Given the description of an element on the screen output the (x, y) to click on. 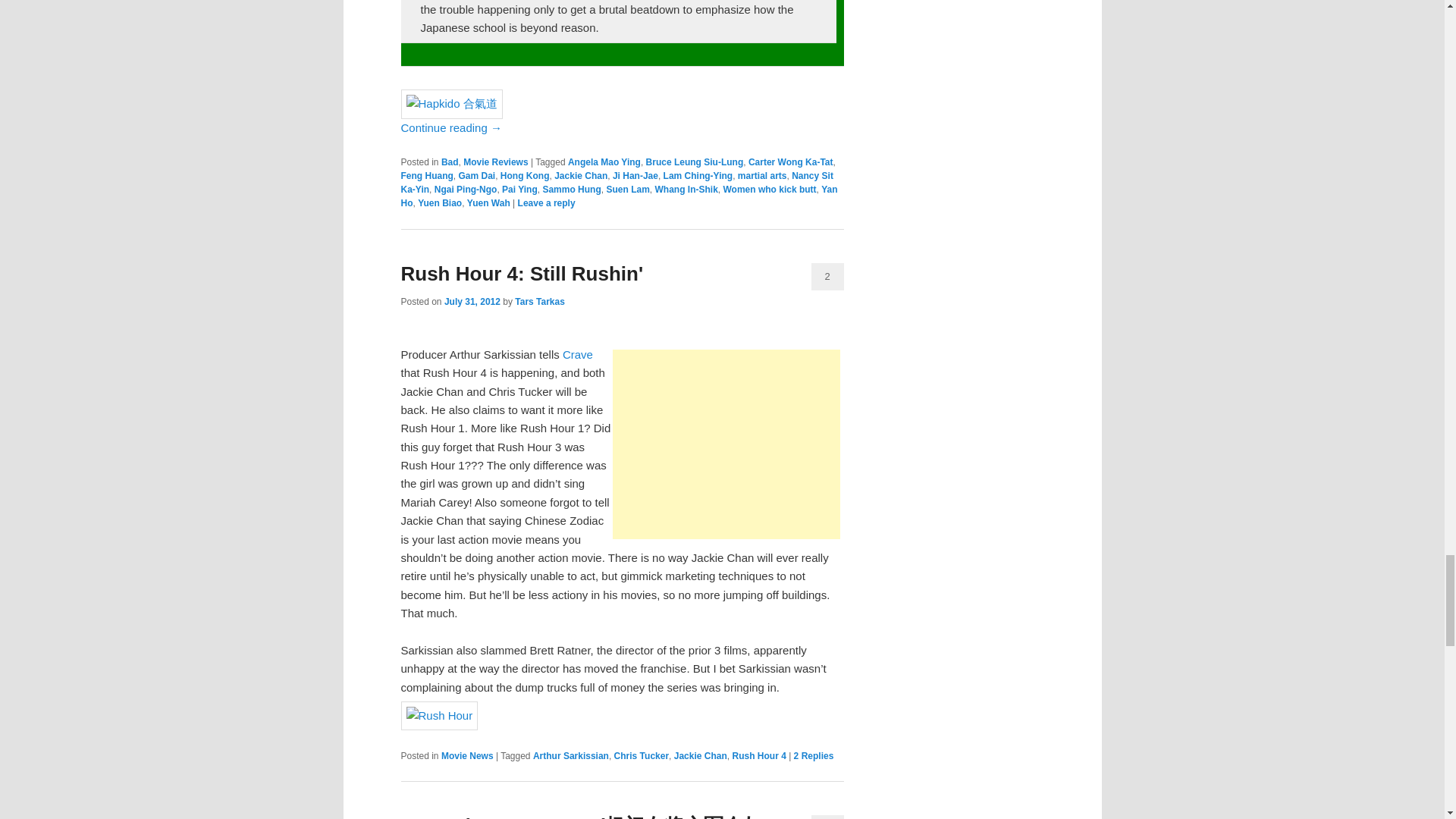
12:27 pm (472, 301)
View all posts by Tars Tarkas (539, 301)
rush-hour (438, 715)
